Given the description of an element on the screen output the (x, y) to click on. 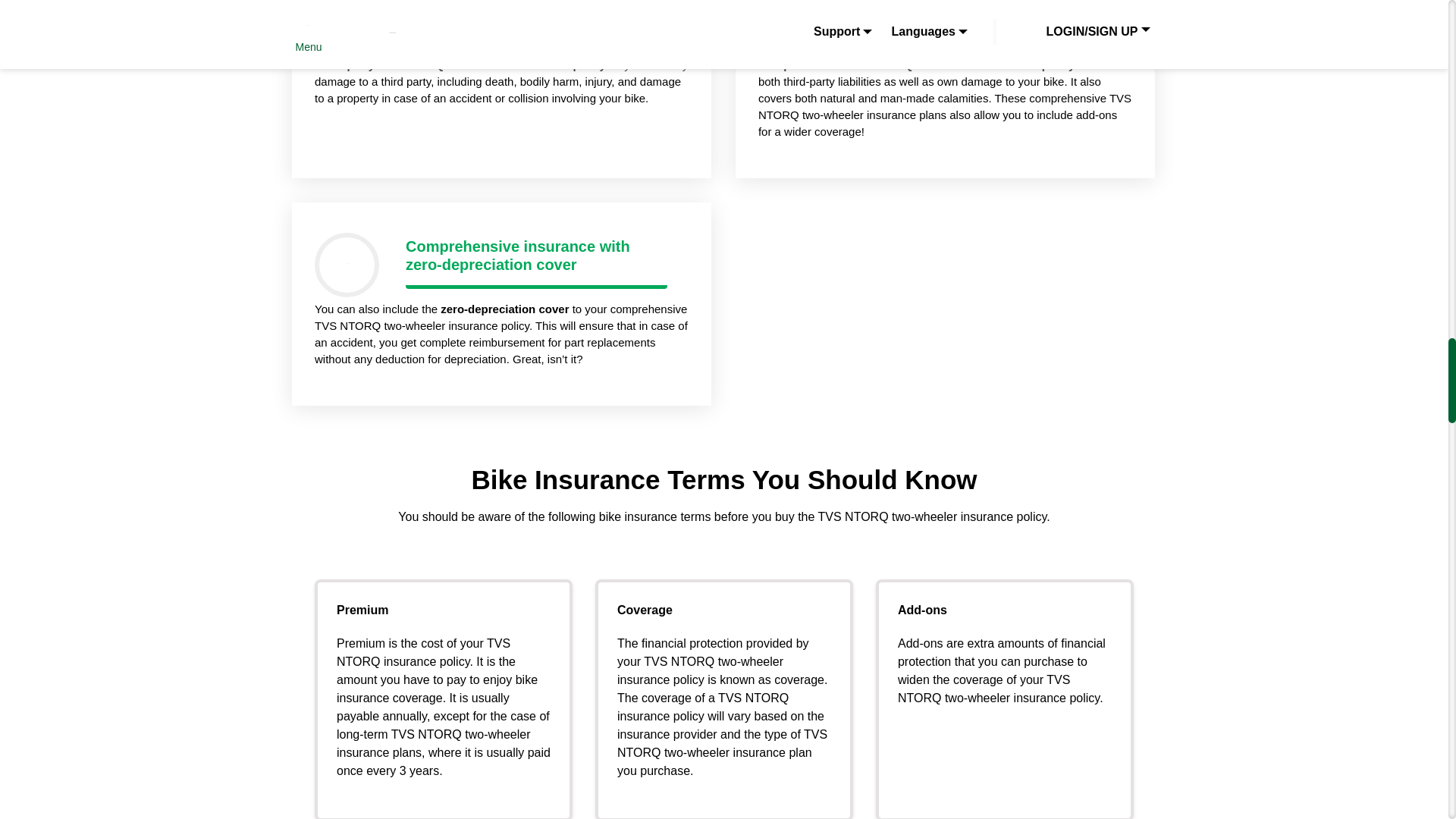
Comprehensive Bike Insurance (916, 63)
Third Party Insurance (459, 63)
Zero Depreciation Cover (505, 308)
